Given the description of an element on the screen output the (x, y) to click on. 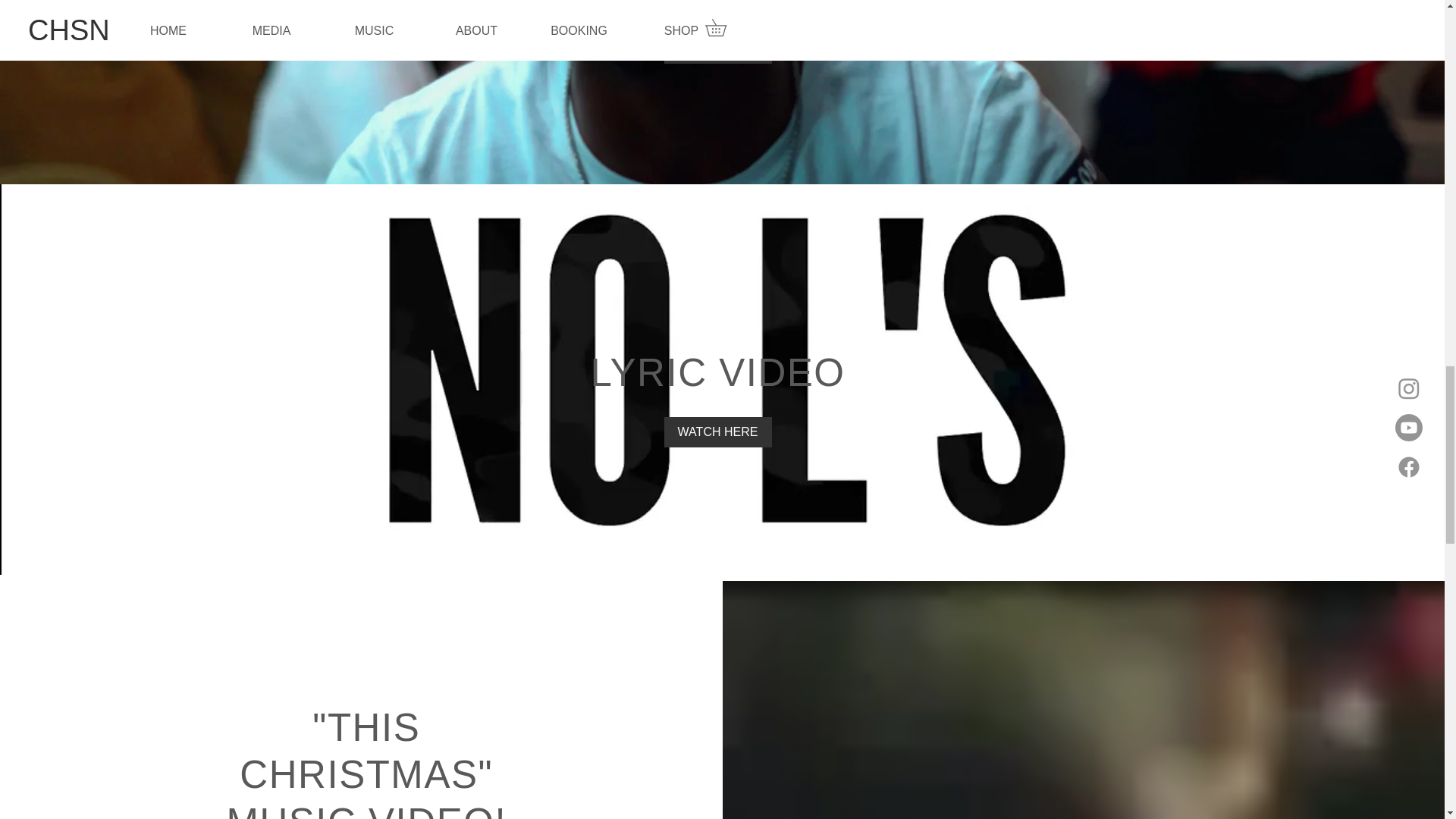
WATCH HERE (717, 431)
WATCH HERE (717, 48)
